Given the description of an element on the screen output the (x, y) to click on. 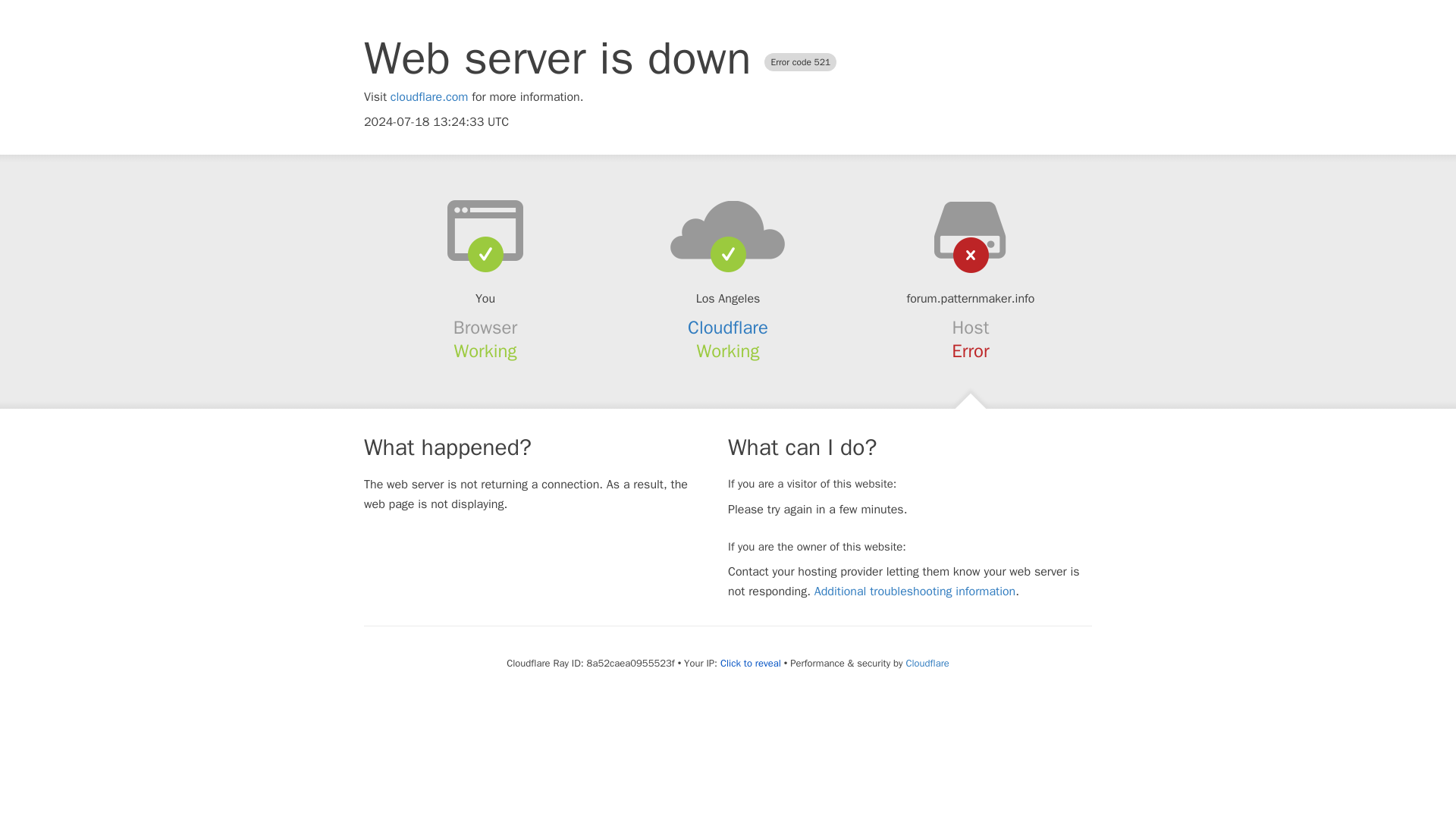
cloudflare.com (429, 96)
Additional troubleshooting information (913, 590)
Cloudflare (927, 662)
Cloudflare (727, 327)
Click to reveal (750, 663)
